Given the description of an element on the screen output the (x, y) to click on. 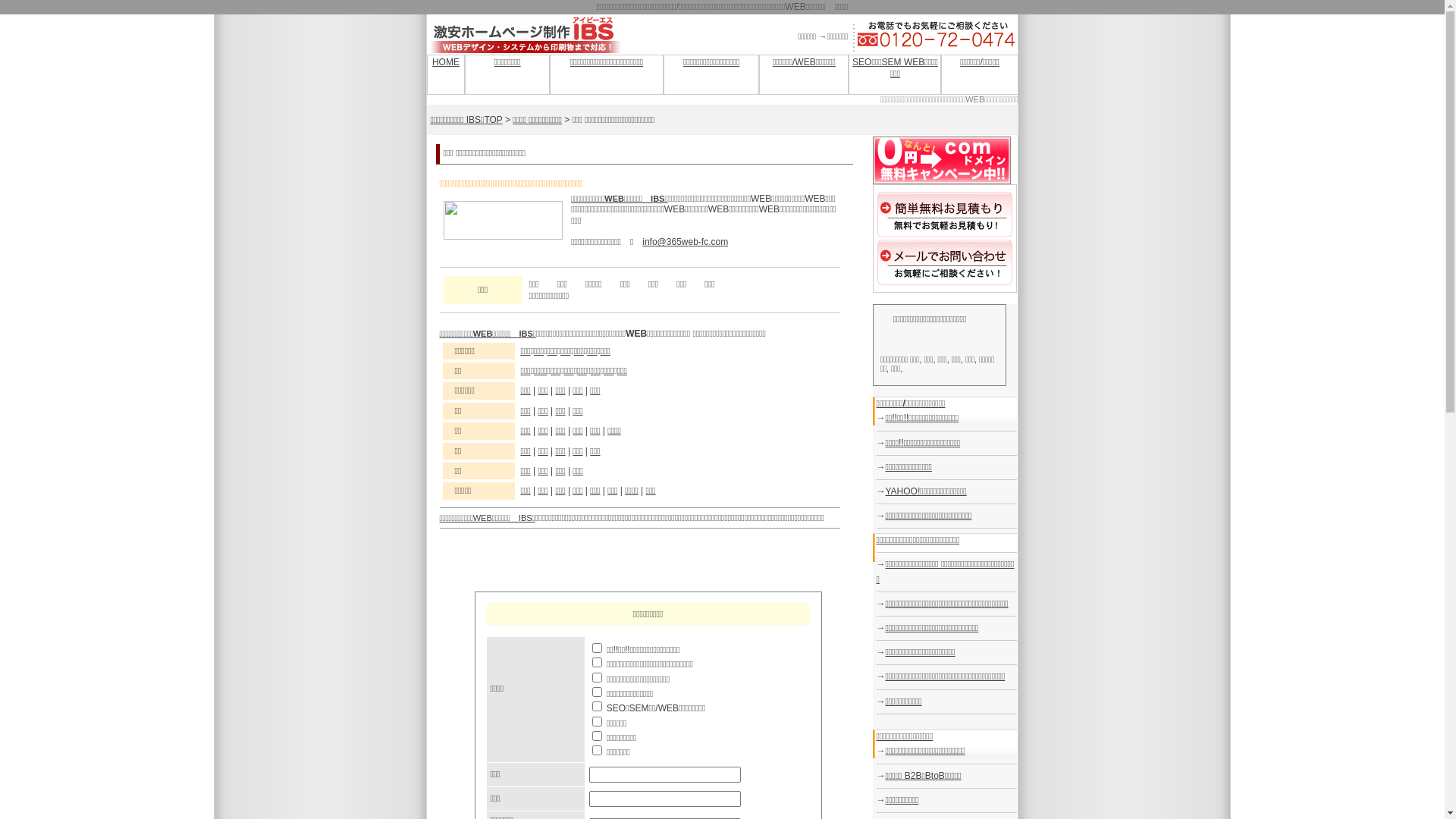
HOME Element type: text (445, 61)
info@365web-fc.com Element type: text (685, 241)
